Given the description of an element on the screen output the (x, y) to click on. 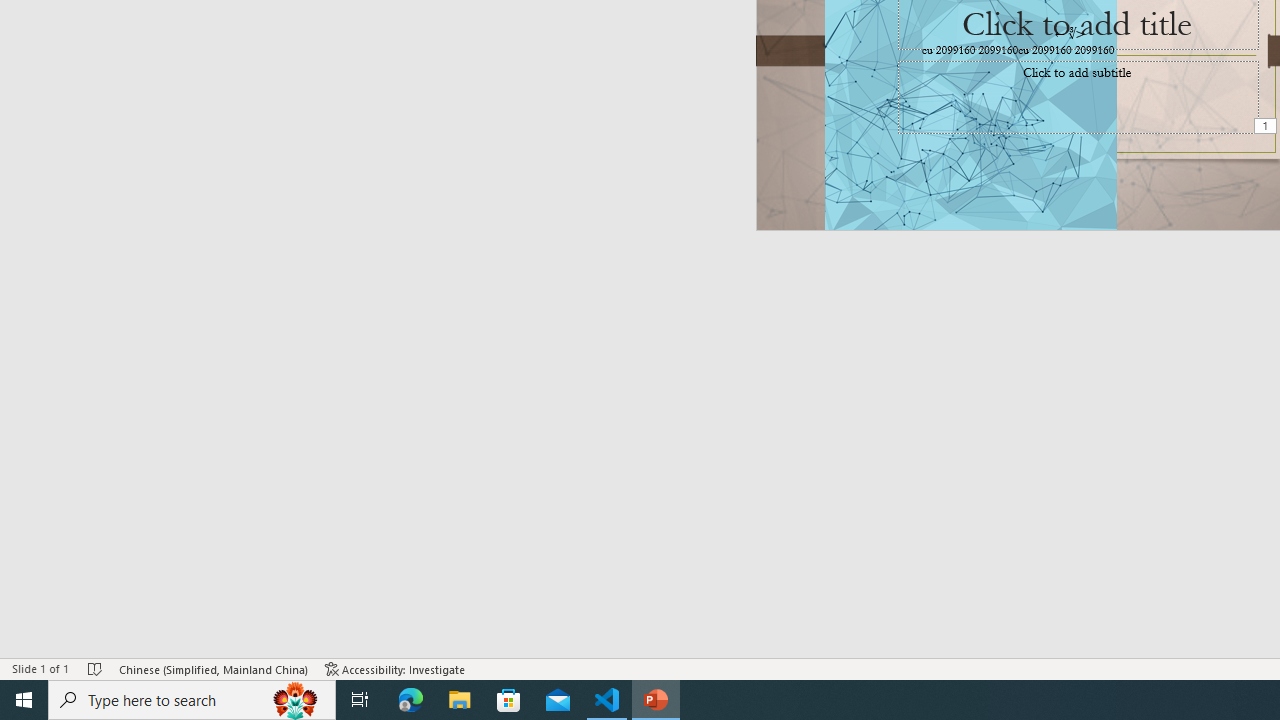
TextBox 7 (1069, 33)
TextBox 61 (1074, 51)
Subtitle TextBox (1078, 97)
Animation, sequence 1, on Camera 9 (1267, 127)
